Given the description of an element on the screen output the (x, y) to click on. 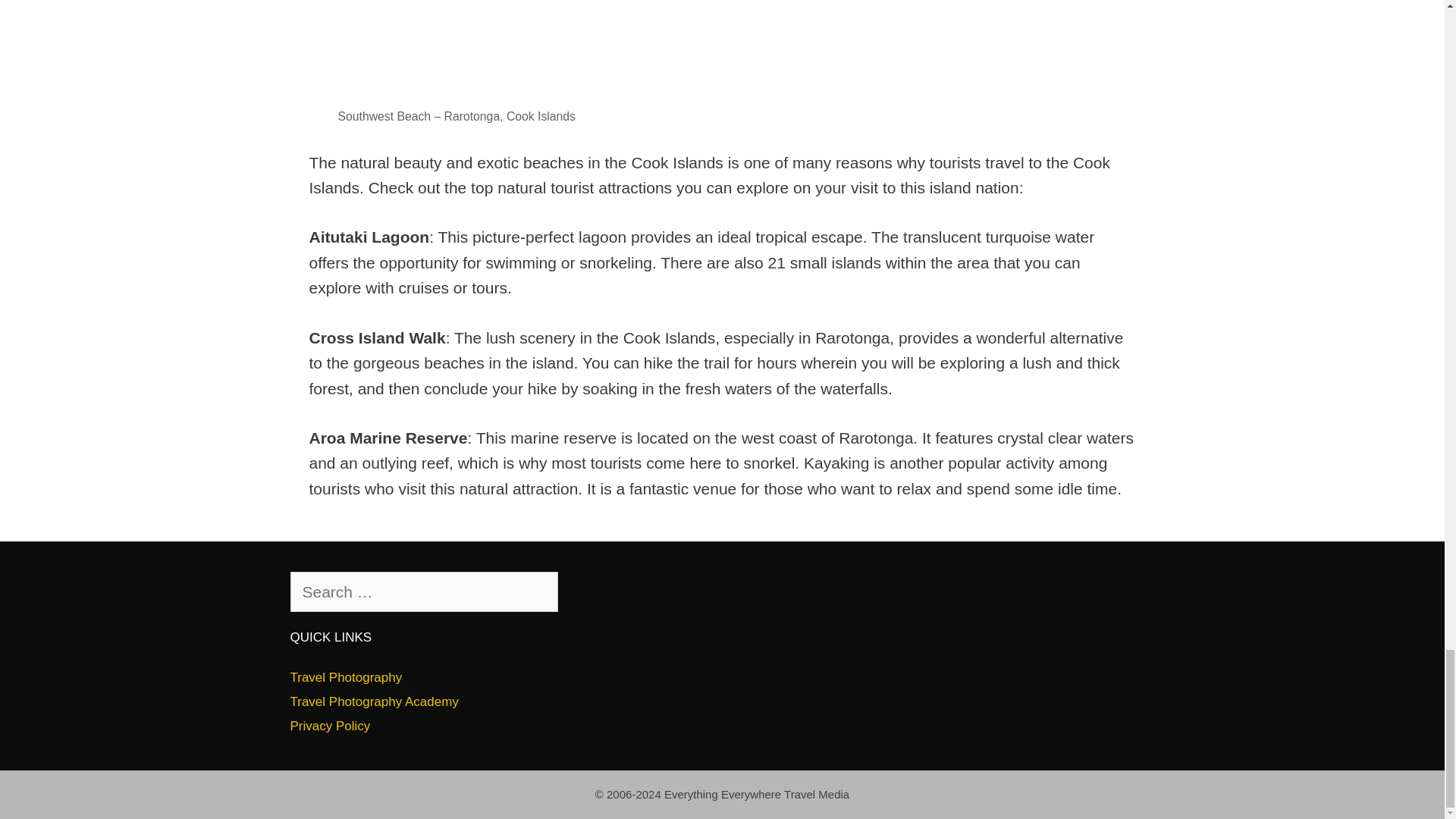
Travel Photography Academy (373, 701)
Search for: (423, 591)
Travel Photography (345, 677)
Privacy Policy (329, 726)
